Given the description of an element on the screen output the (x, y) to click on. 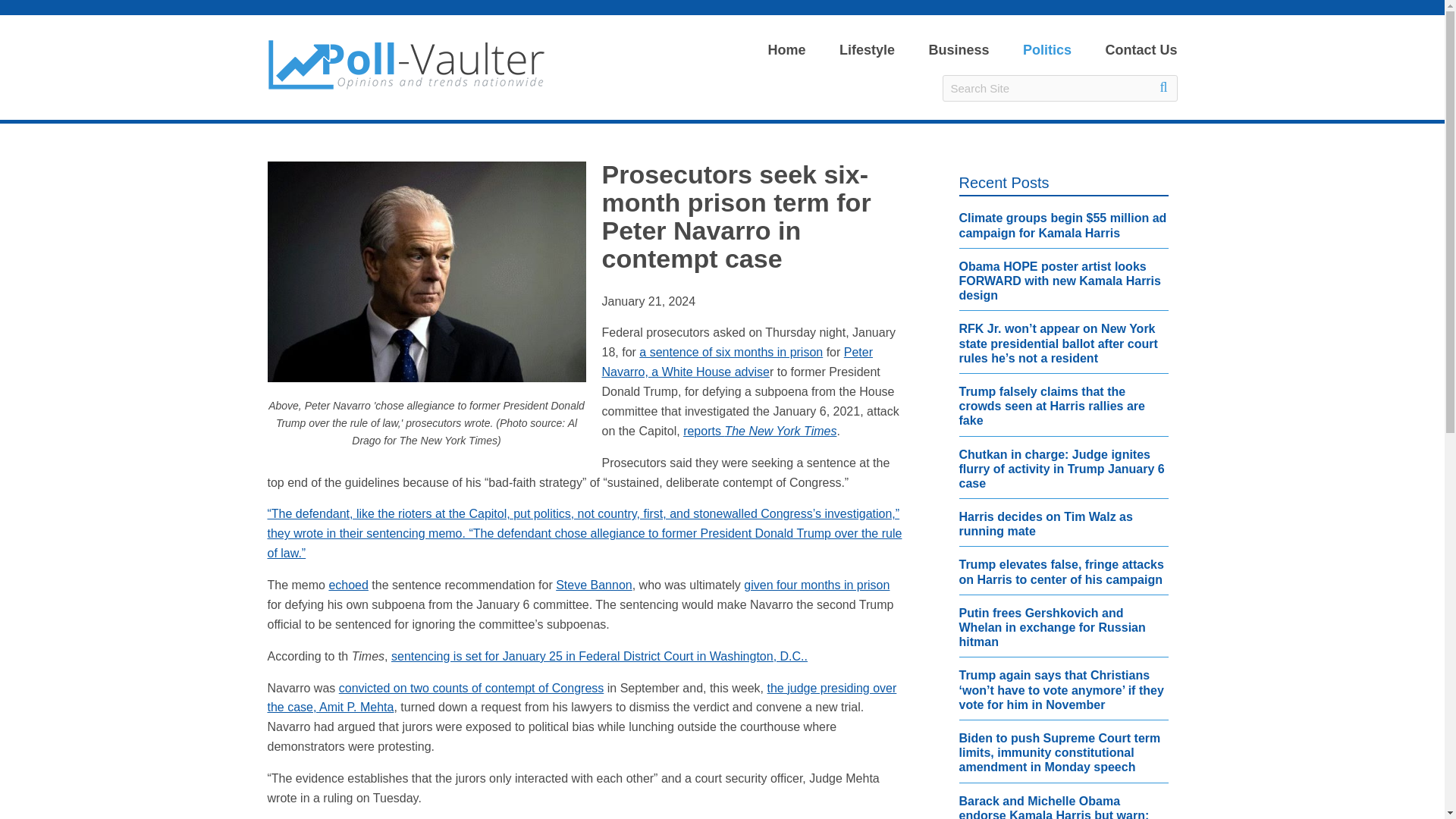
the judge presiding over the case, Amit P. Mehta (581, 697)
convicted on two counts of contempt of Congress (471, 687)
reports The New York Times (758, 431)
given four months in prison (816, 584)
Lifestyle (867, 50)
Contact Us (1132, 50)
Steve Bannon (593, 584)
Politics (1046, 50)
echoed (348, 584)
a sentence of six months in prison (730, 351)
